Given the description of an element on the screen output the (x, y) to click on. 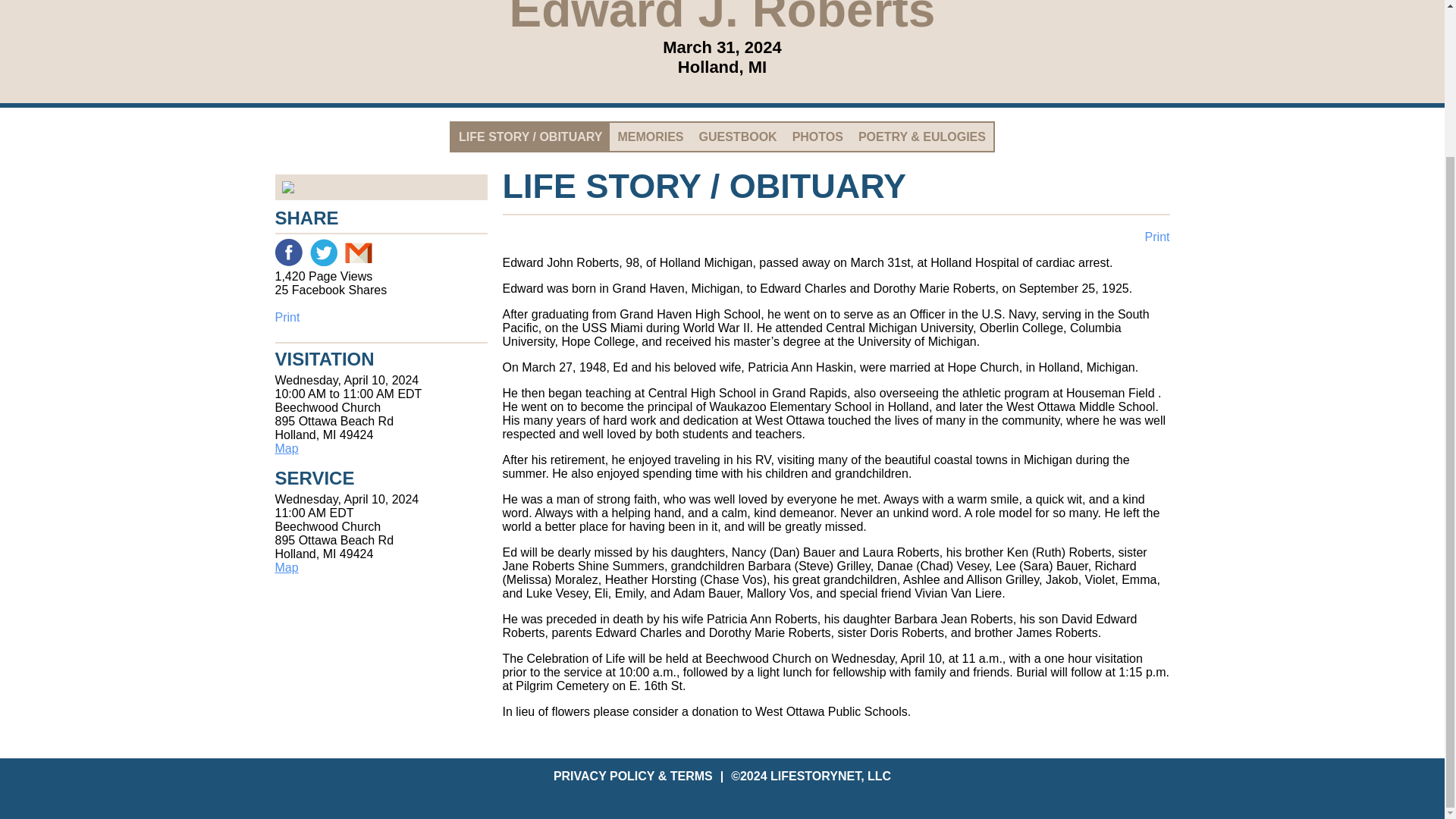
Map (286, 448)
Edward J. Roberts (380, 186)
PHOTOS (817, 136)
MEMORIES (650, 136)
Print (380, 317)
GUESTBOOK (737, 136)
Map (286, 567)
Twitter (322, 252)
Email (357, 252)
Print (1157, 236)
Facebook (288, 252)
